Given the description of an element on the screen output the (x, y) to click on. 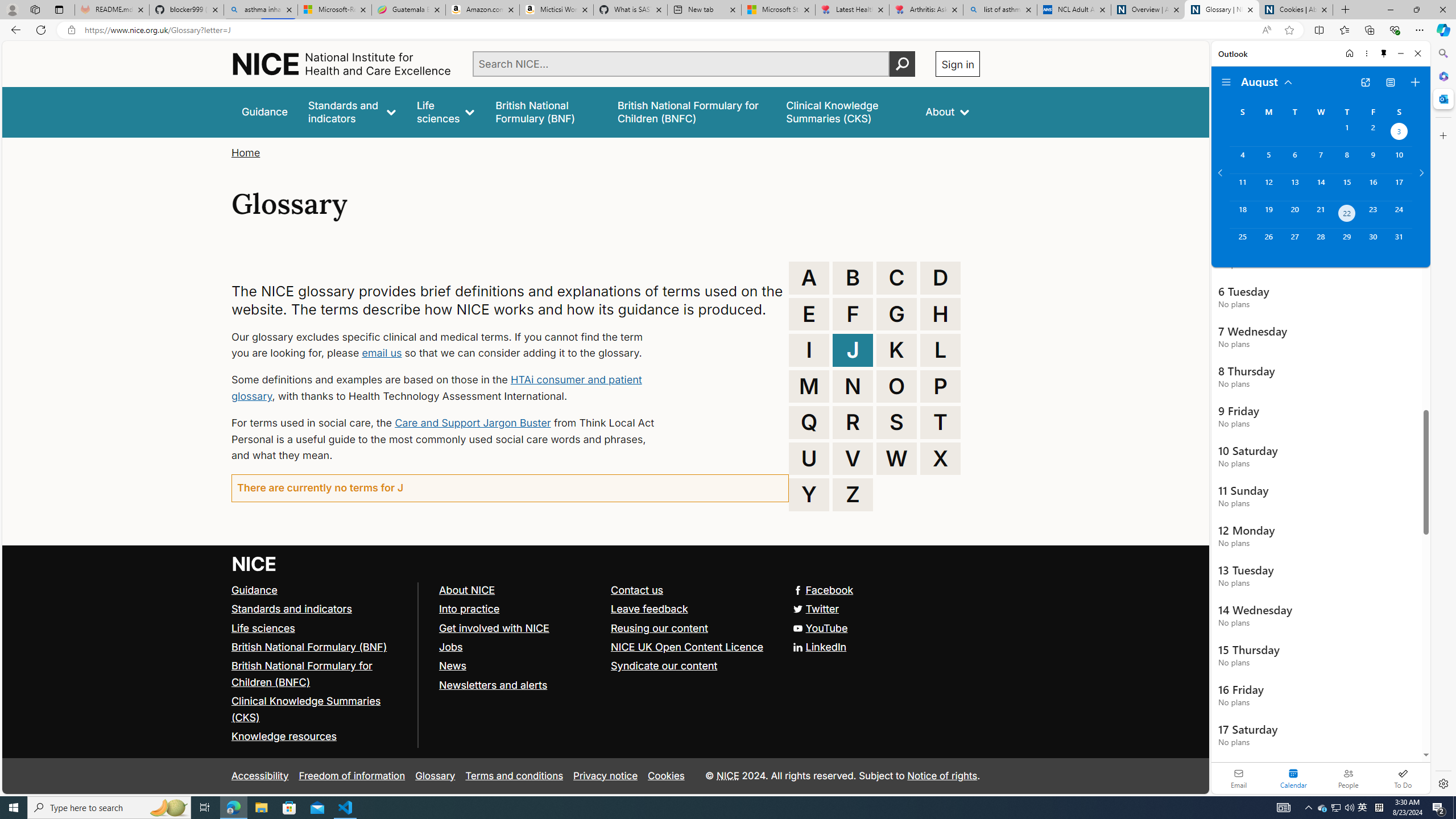
Facebook (823, 589)
B (852, 277)
Glossary | NICE (1221, 9)
E (809, 313)
Newsletters and alerts (518, 684)
Wednesday, August 28, 2024.  (1320, 241)
Knowledge resources (319, 736)
Go to NICE home page (253, 563)
